Given the description of an element on the screen output the (x, y) to click on. 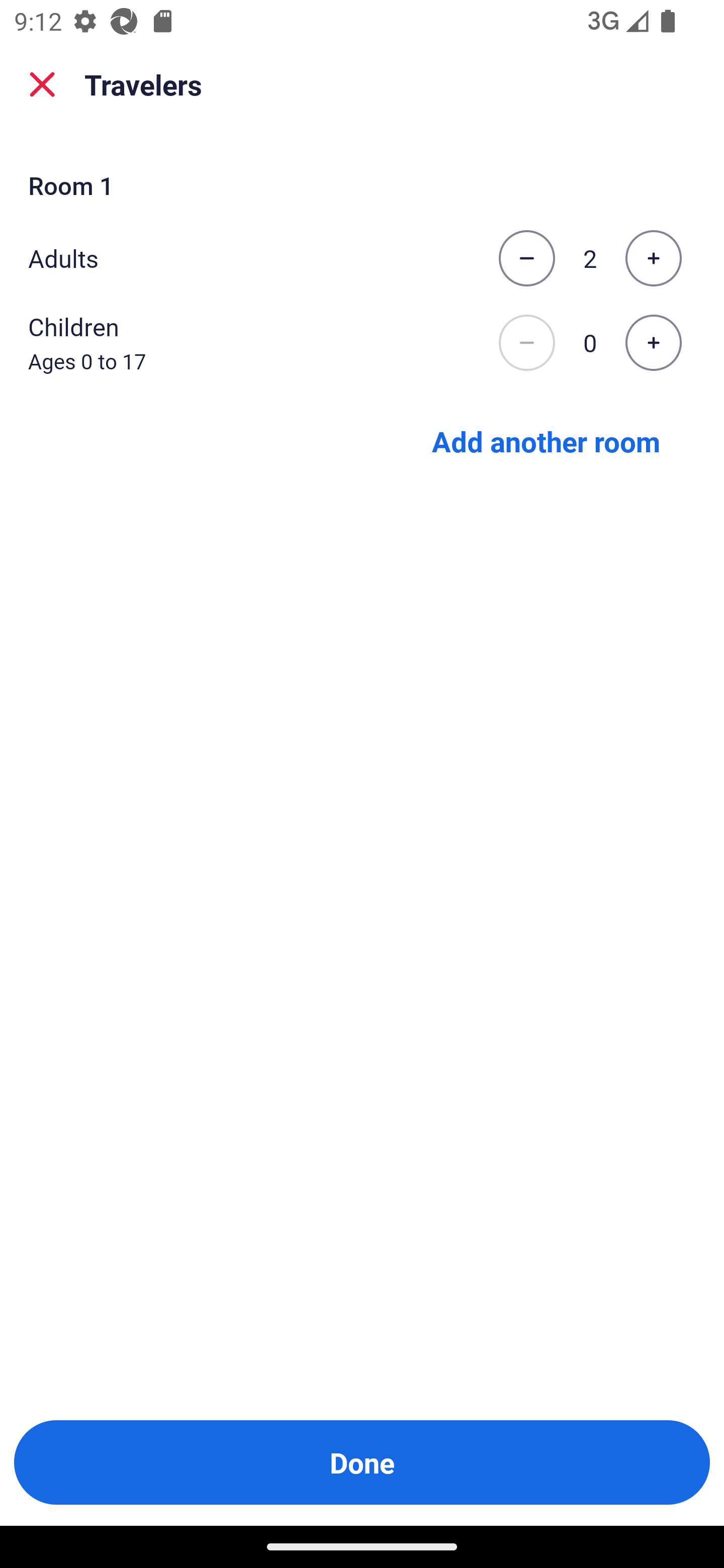
close (42, 84)
Decrease the number of adults (526, 258)
Increase the number of adults (653, 258)
Decrease the number of children (526, 343)
Increase the number of children (653, 343)
Add another room (545, 440)
Done (361, 1462)
